Given the description of an element on the screen output the (x, y) to click on. 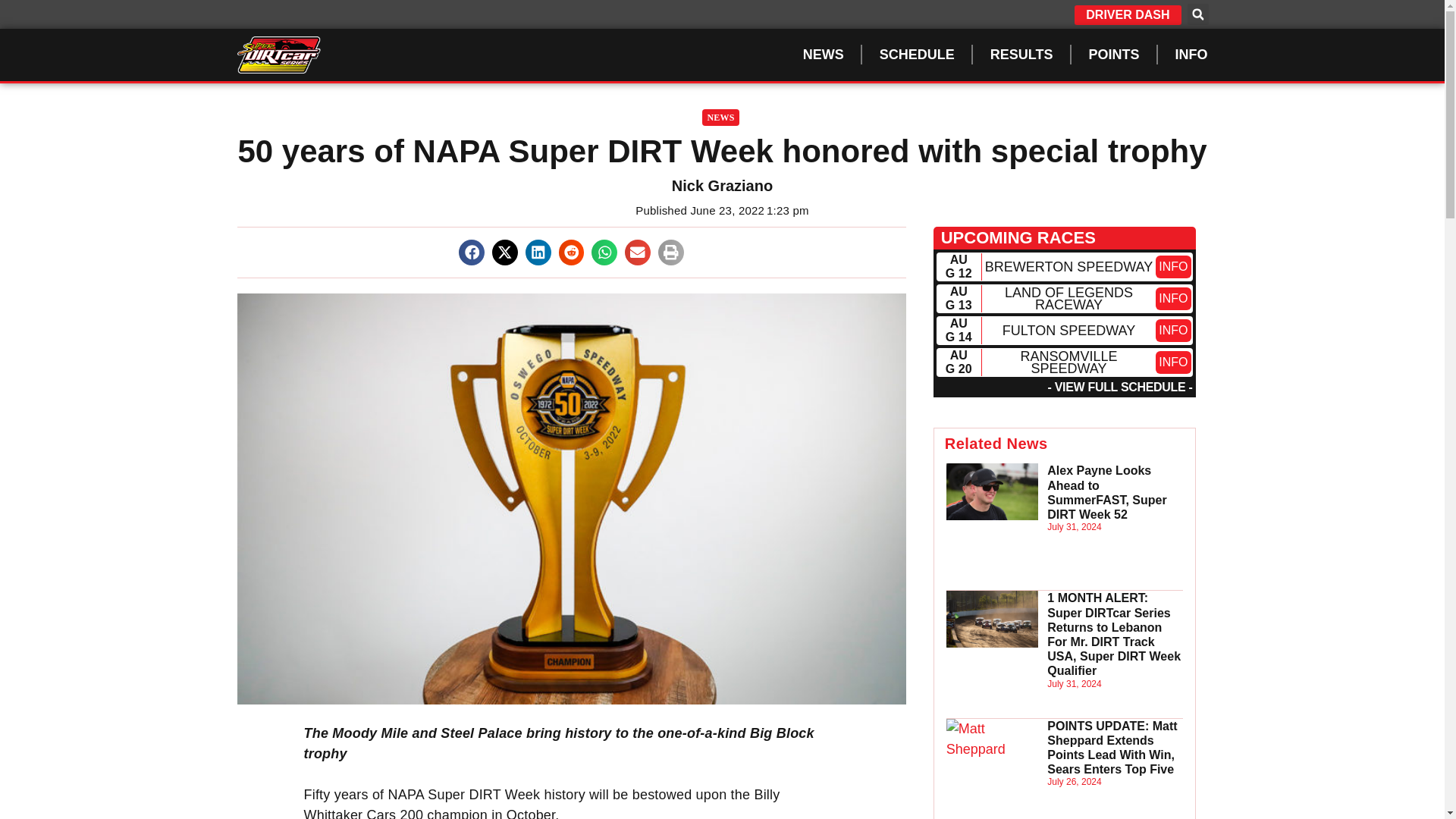
RESULTS (1021, 53)
Nick Graziano (721, 185)
INFO (1173, 266)
INFO (1191, 53)
INFO (1173, 362)
INFO (1173, 298)
NEWS (822, 53)
SCHEDULE (917, 53)
VIEW FULL SCHEDULE (1120, 386)
Published June 23, 2022 (699, 211)
NEWS (719, 117)
DRIVER DASH (1127, 14)
POINTS (1113, 53)
Alex Payne Looks Ahead to SummerFAST, Super DIRT Week 52 (1106, 492)
INFO (1173, 330)
